Given the description of an element on the screen output the (x, y) to click on. 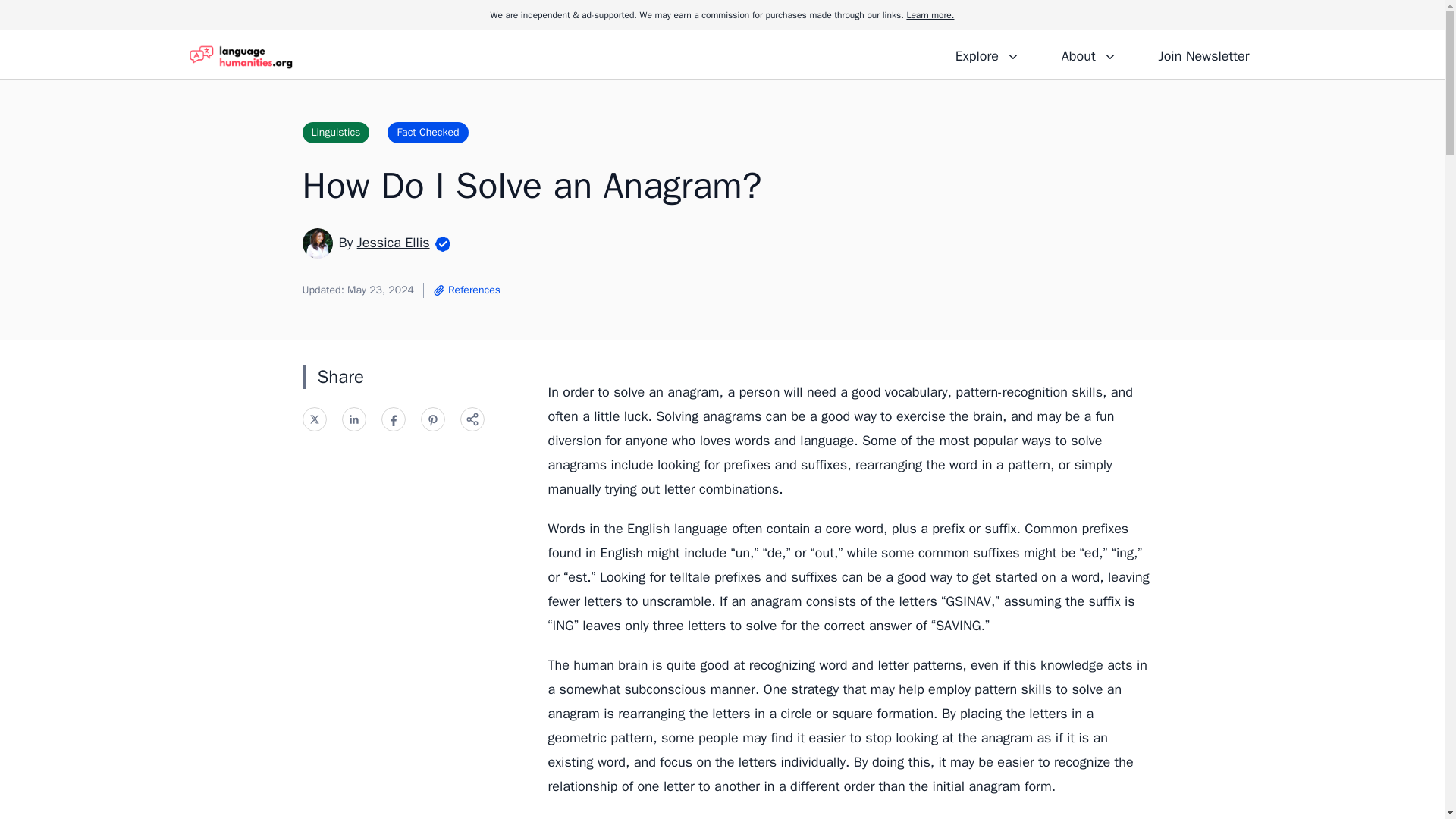
Linguistics (335, 132)
Explore (986, 54)
About (1088, 54)
References (466, 290)
Learn more. (929, 15)
Jessica Ellis (392, 242)
Fact Checked (427, 132)
Join Newsletter (1202, 54)
